Given the description of an element on the screen output the (x, y) to click on. 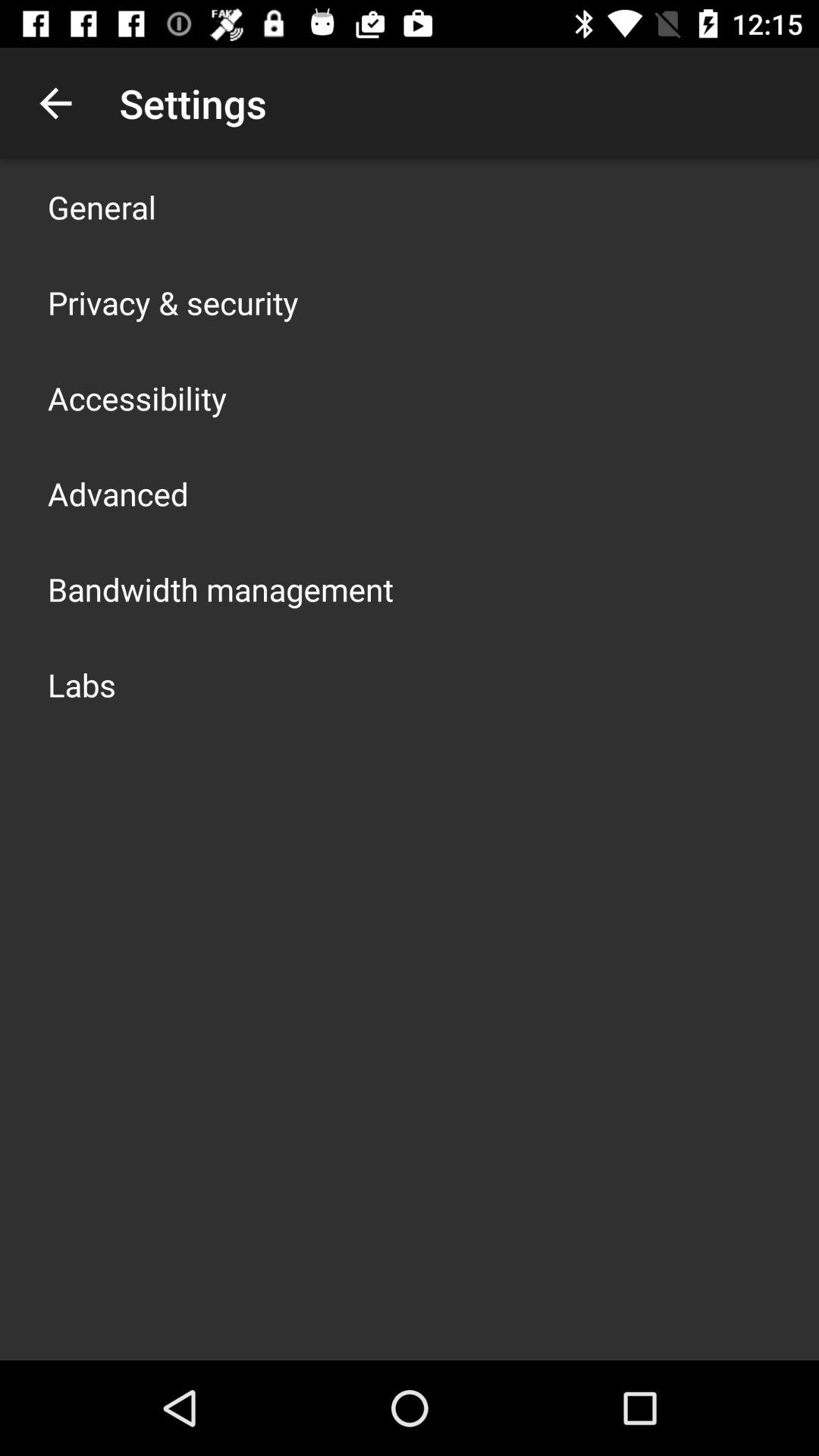
tap the item below accessibility icon (117, 493)
